Given the description of an element on the screen output the (x, y) to click on. 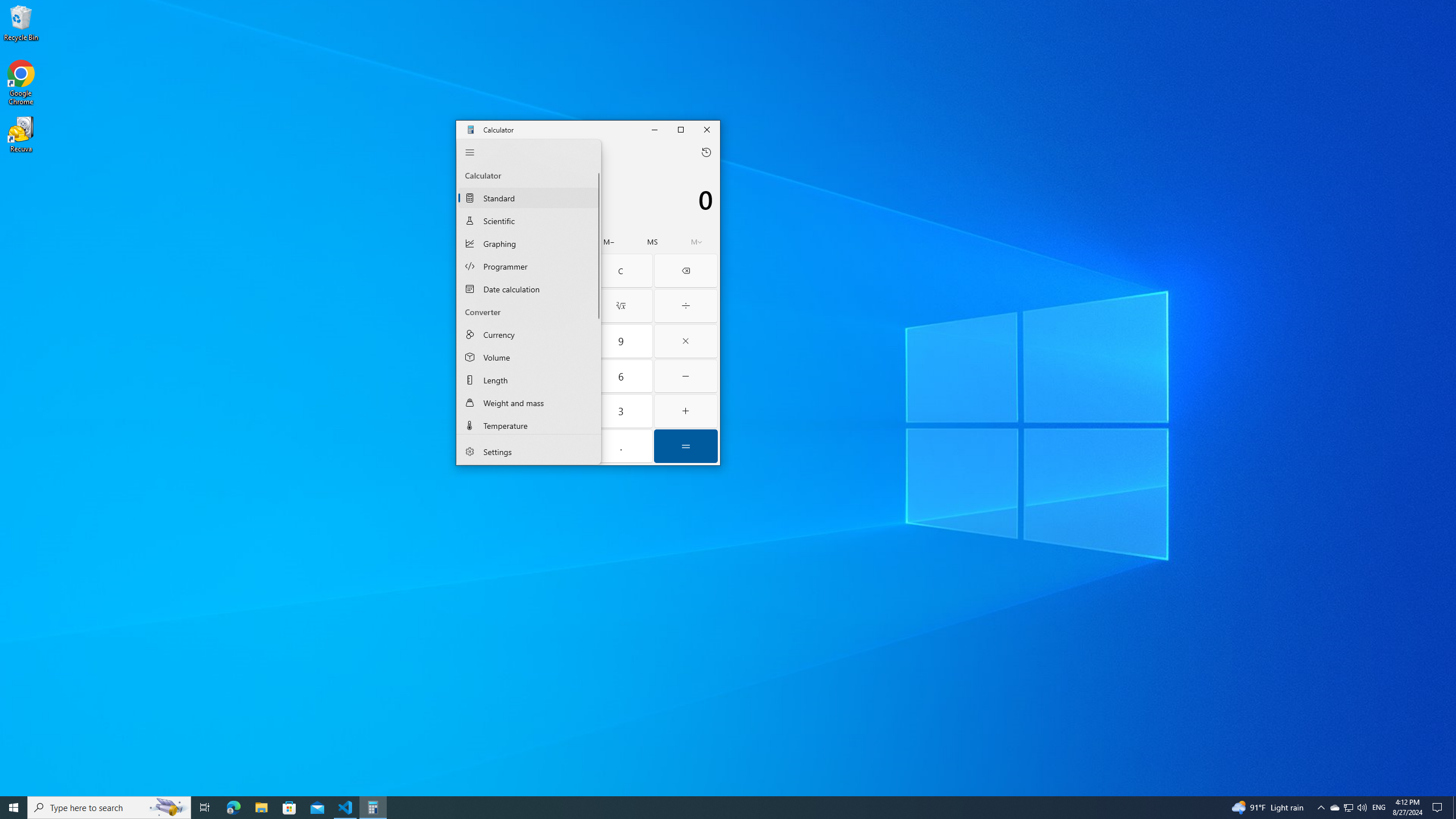
Temperature Converter (528, 423)
Clear all memory (479, 241)
Memory add (565, 241)
Scientific Calculator (528, 220)
Reciprocal (490, 305)
Open history flyout (705, 152)
Length Converter (528, 379)
Divide by (685, 305)
Multiply by (685, 341)
Maximize Calculator (681, 129)
